Given the description of an element on the screen output the (x, y) to click on. 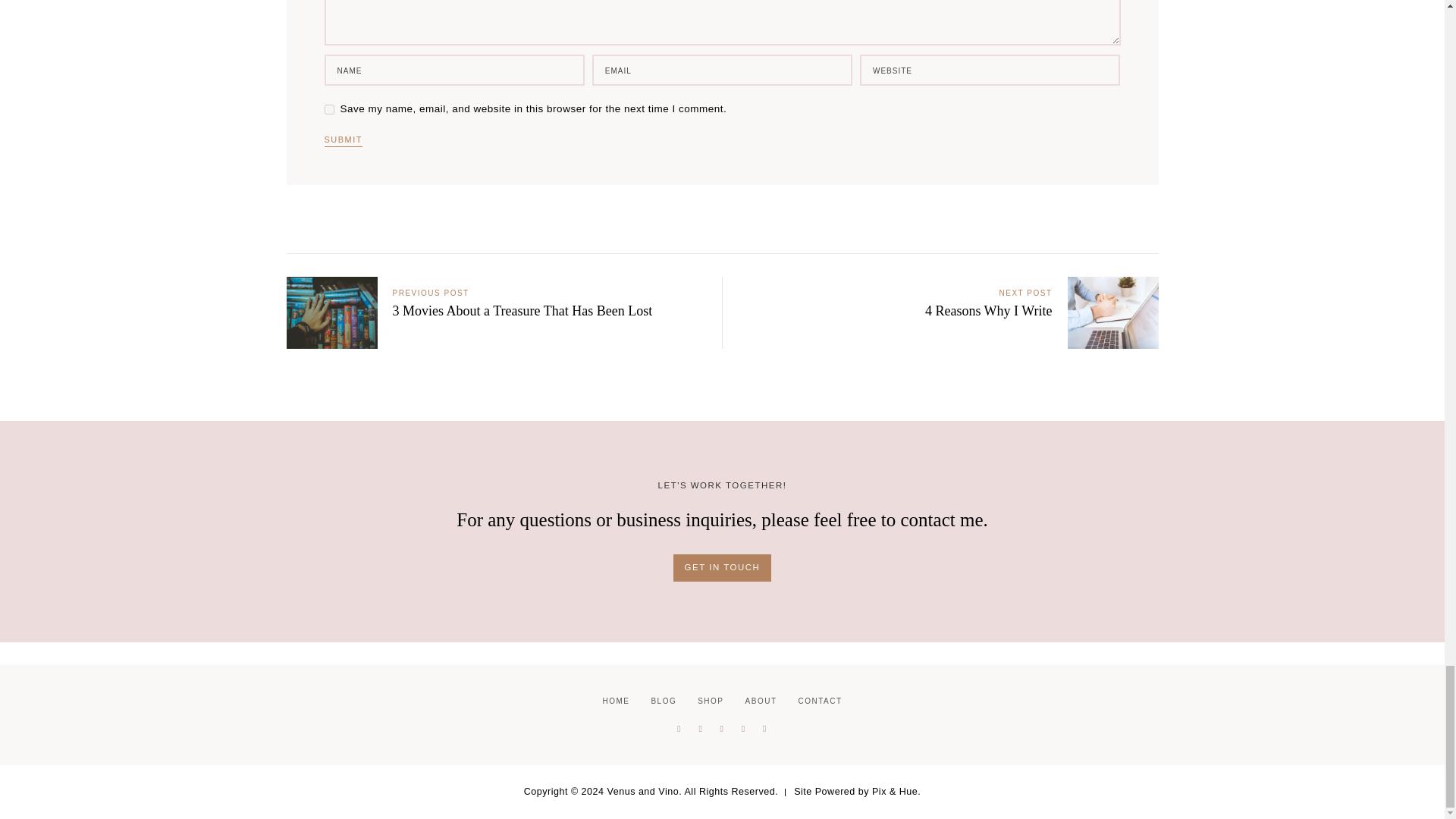
yes (329, 109)
Submit (343, 141)
